Given the description of an element on the screen output the (x, y) to click on. 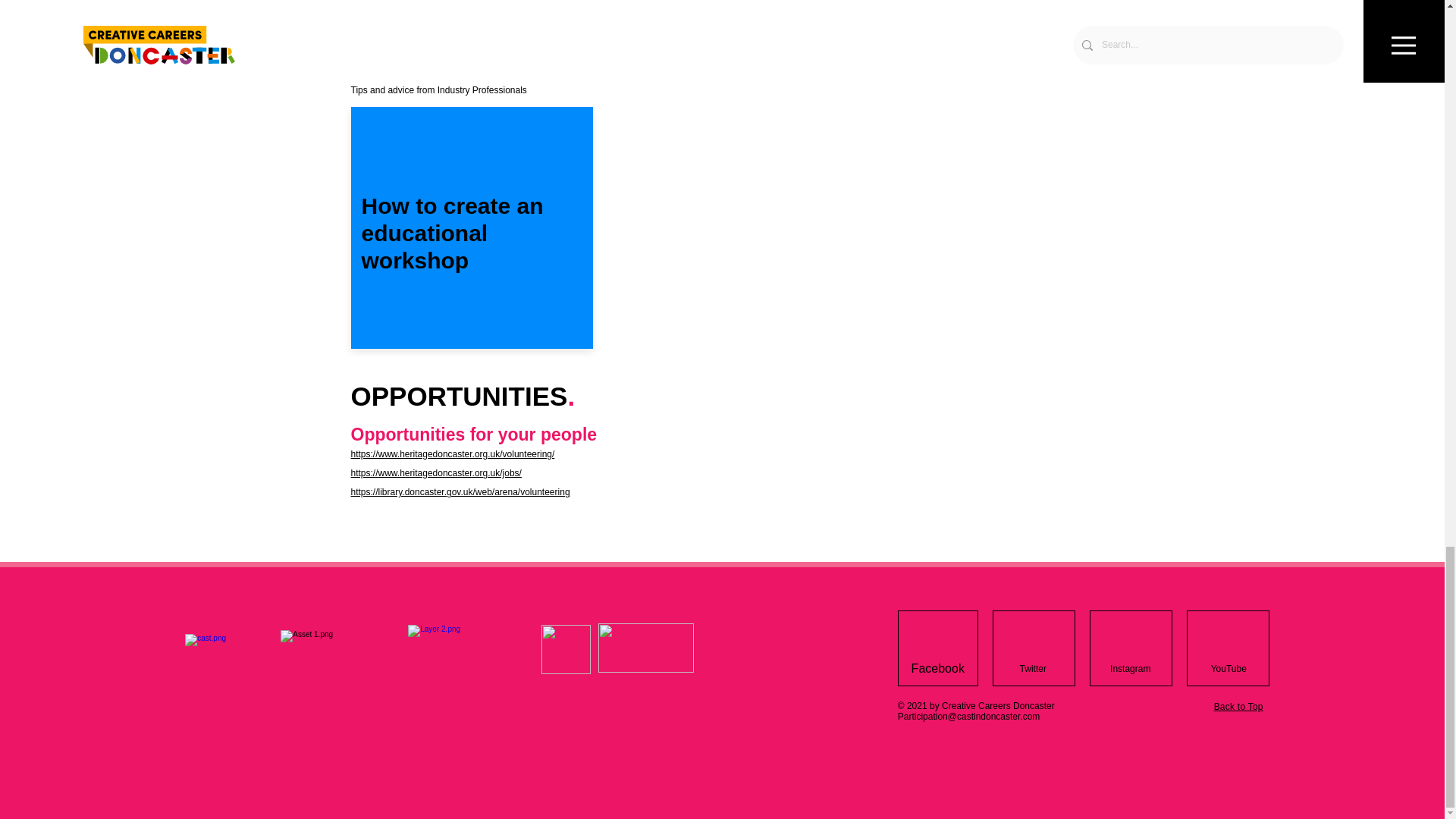
Back to Top (1238, 706)
Instagram (1130, 668)
Facebook (937, 668)
EFF-logo-Colour.png (646, 647)
YouTube (1228, 668)
Twitter (1032, 668)
